Given the description of an element on the screen output the (x, y) to click on. 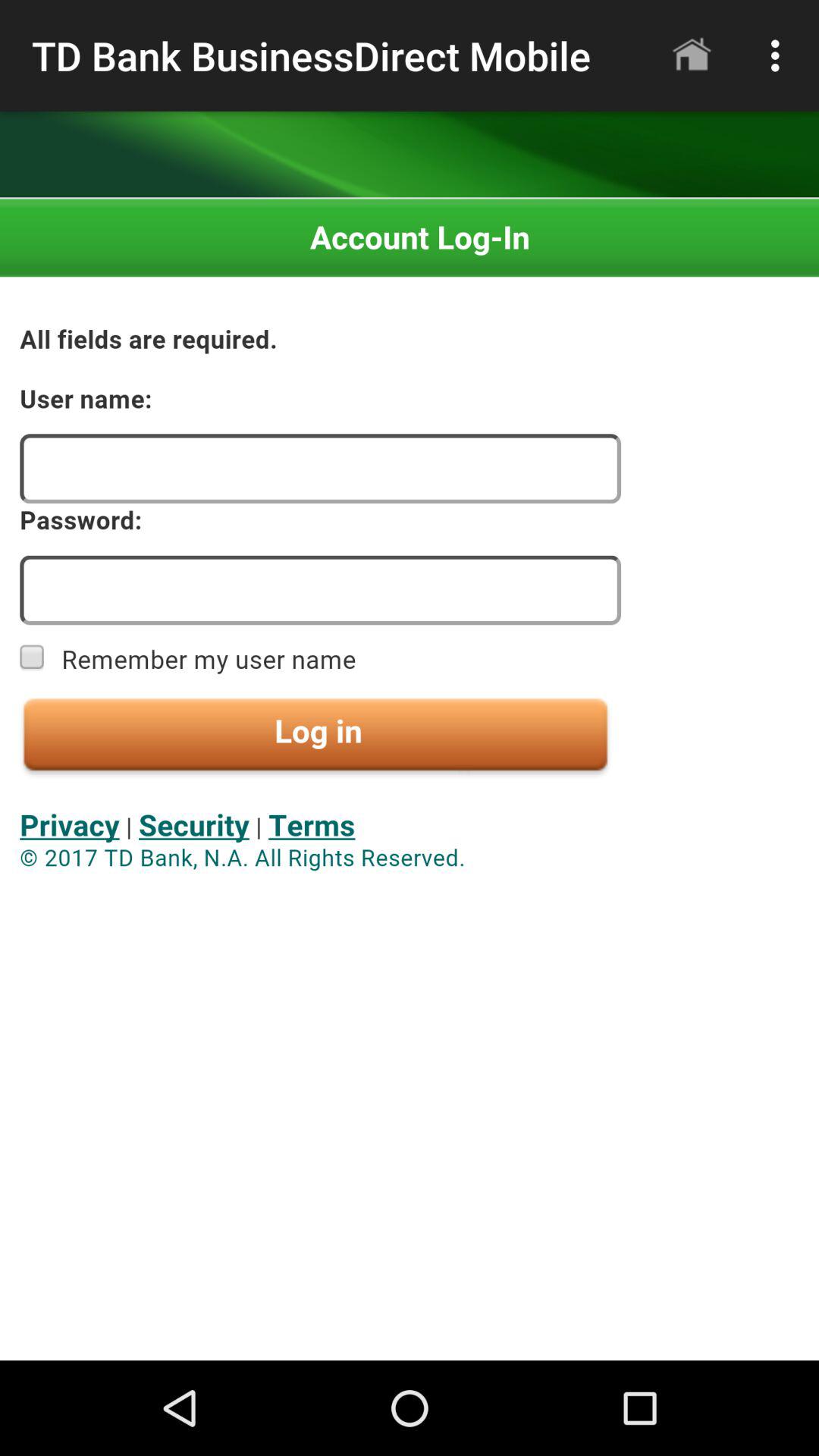
seeing in the paragraph (409, 779)
